Given the description of an element on the screen output the (x, y) to click on. 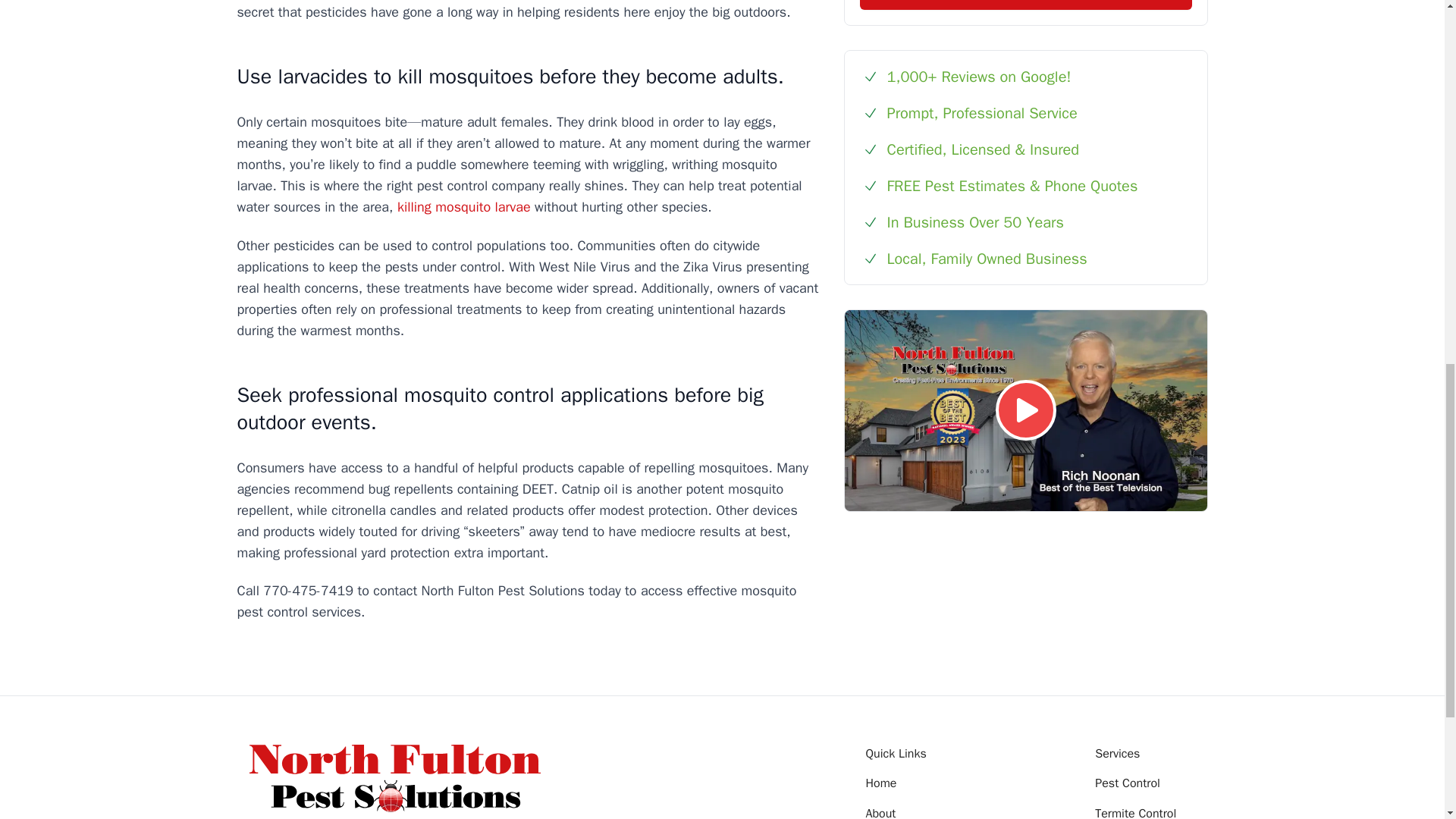
Termite Control (1135, 812)
Home (881, 783)
Pest Control (1127, 783)
About (881, 812)
killing mosquito larvae (464, 207)
